Given the description of an element on the screen output the (x, y) to click on. 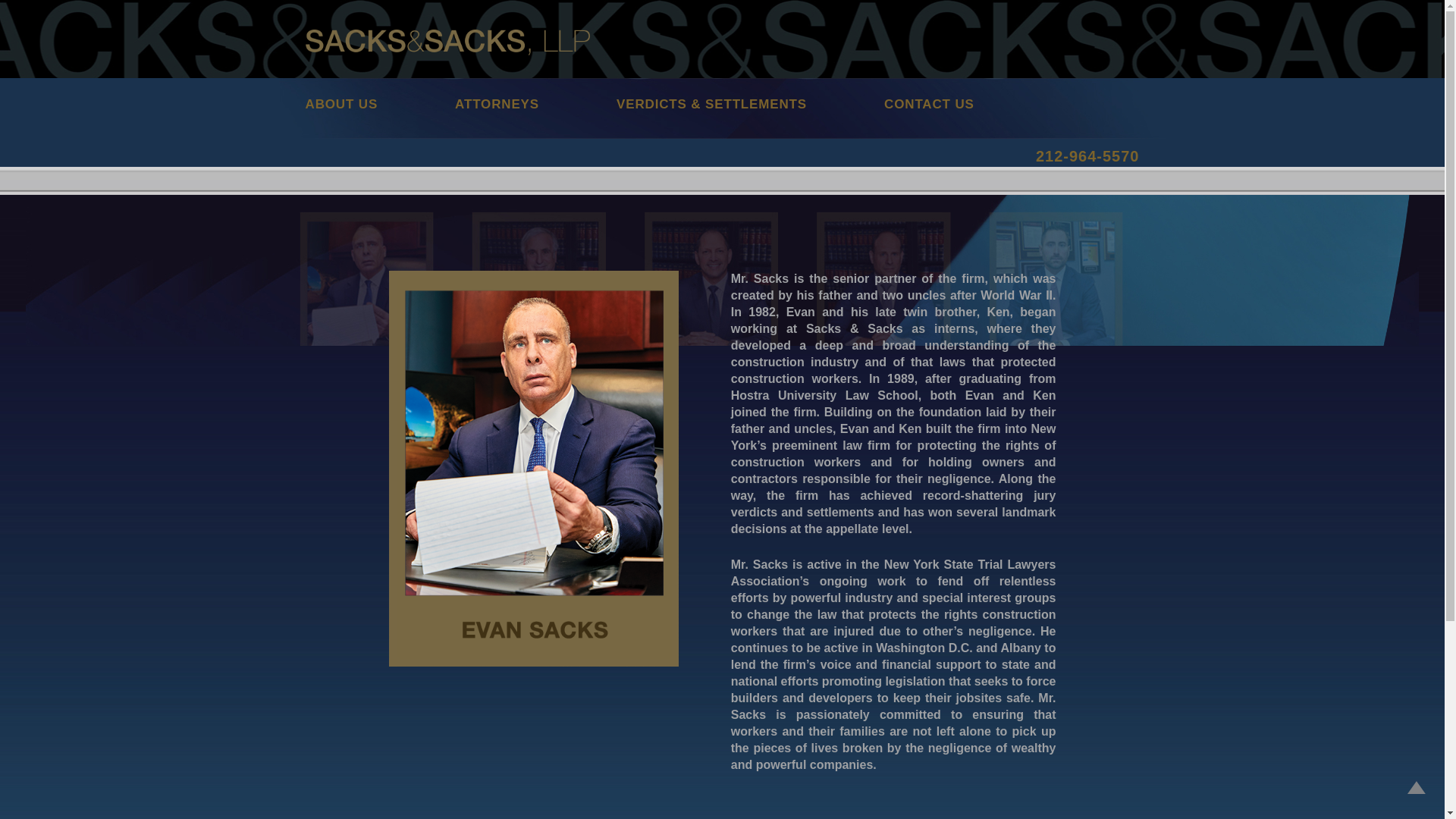
ATTORNEYS (534, 102)
CONTACT US (967, 102)
ABOUT US (379, 102)
212-964-5570 (1087, 156)
